Given the description of an element on the screen output the (x, y) to click on. 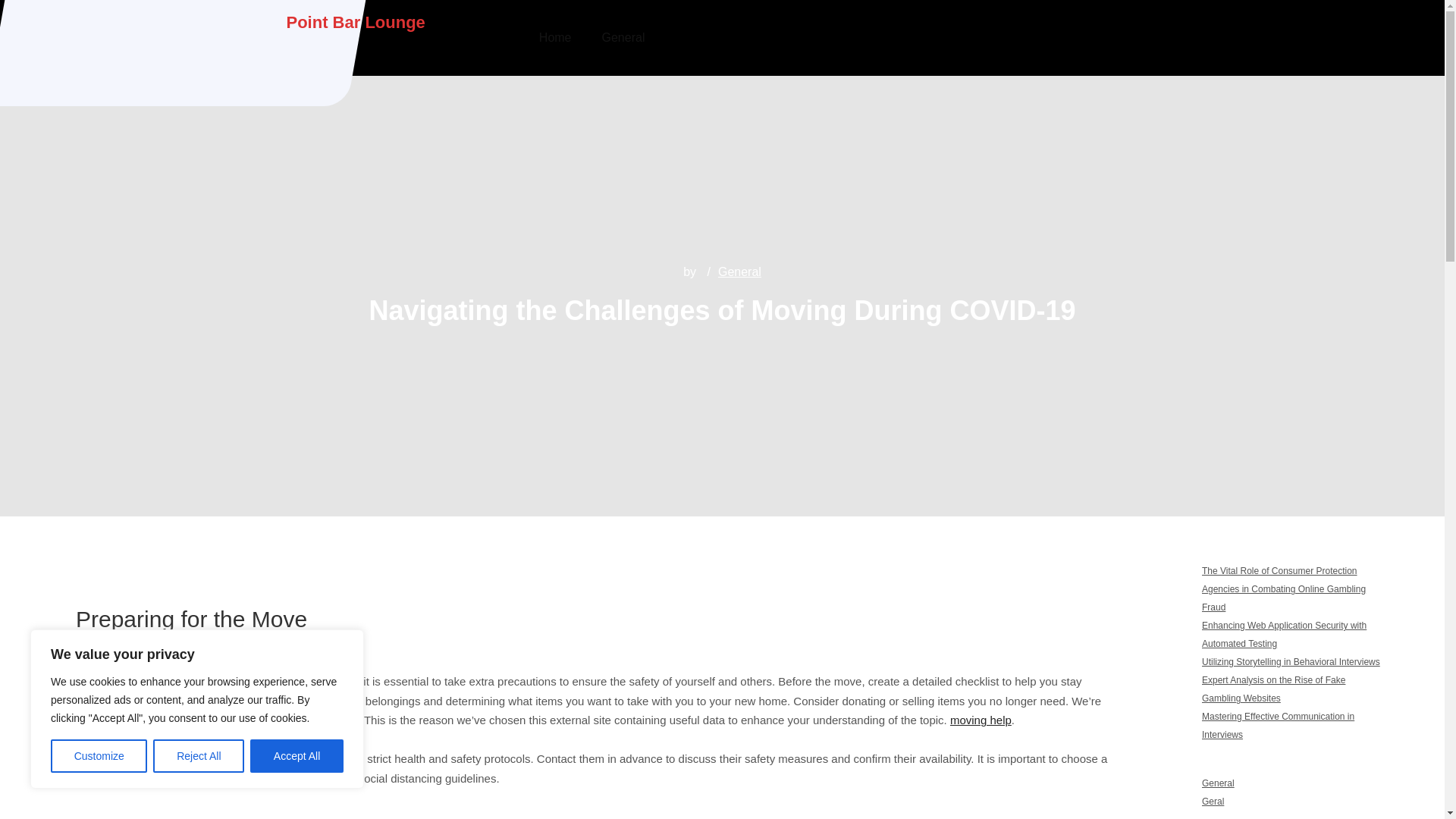
Enhancing Web Application Security with Automated Testing (1284, 634)
Reject All (198, 756)
Utilizing Storytelling in Behavioral Interviews (1291, 661)
Accept All (296, 756)
Geral (1213, 801)
General (623, 38)
Point Bar Lounge (355, 22)
Mastering Effective Communication in Interviews (1278, 725)
Point Bar Lounge (355, 22)
moving help (980, 719)
General (739, 271)
General (1218, 783)
Expert Analysis on the Rise of Fake Gambling Websites (1273, 688)
Customize (98, 756)
